Given the description of an element on the screen output the (x, y) to click on. 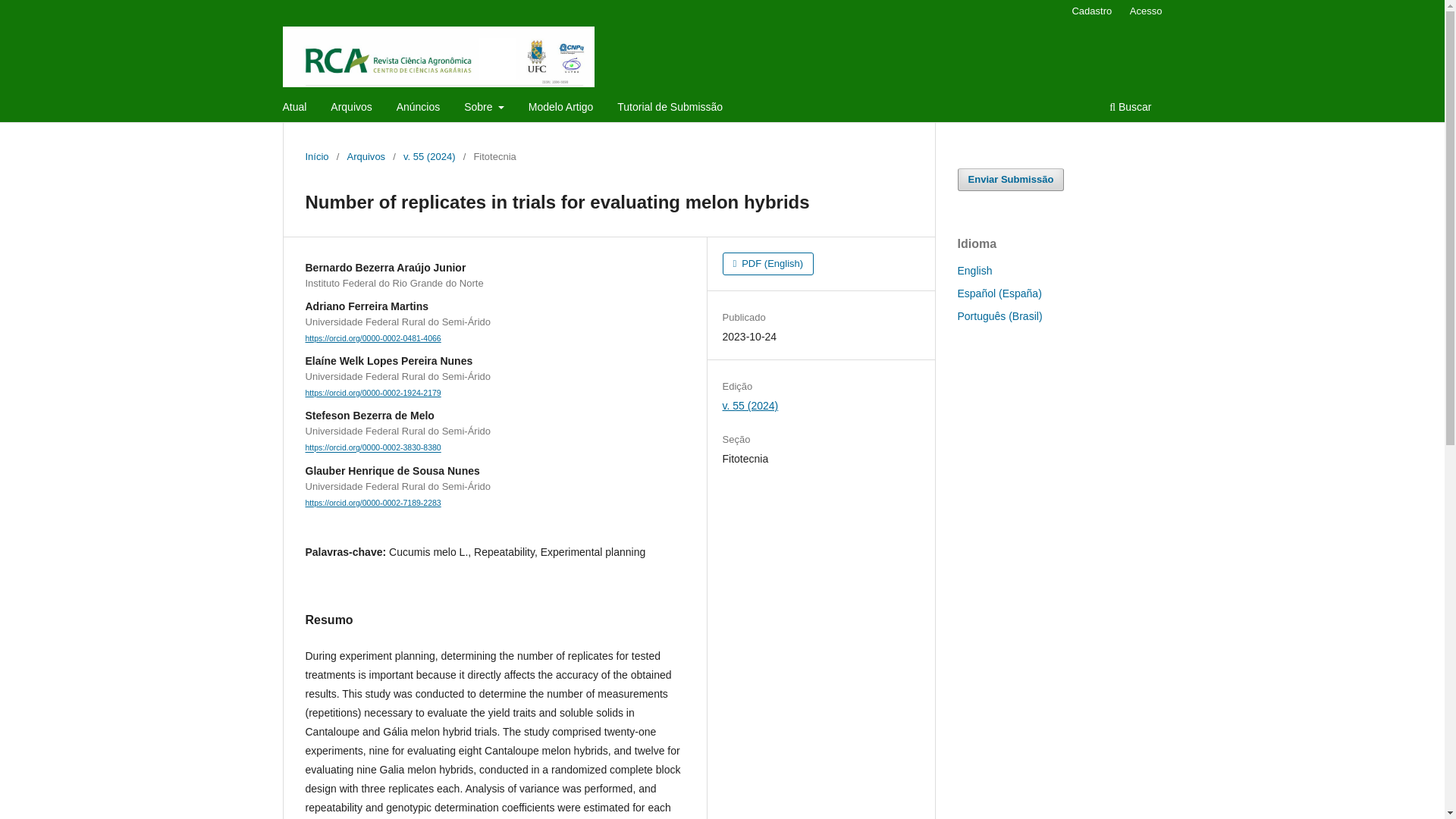
Arquivos (365, 156)
Acesso (1146, 11)
Buscar (1129, 108)
Modelo Artigo (560, 108)
Cadastro (1091, 11)
Sobre (483, 108)
Atual (295, 108)
Arquivos (350, 108)
English (973, 270)
